Given the description of an element on the screen output the (x, y) to click on. 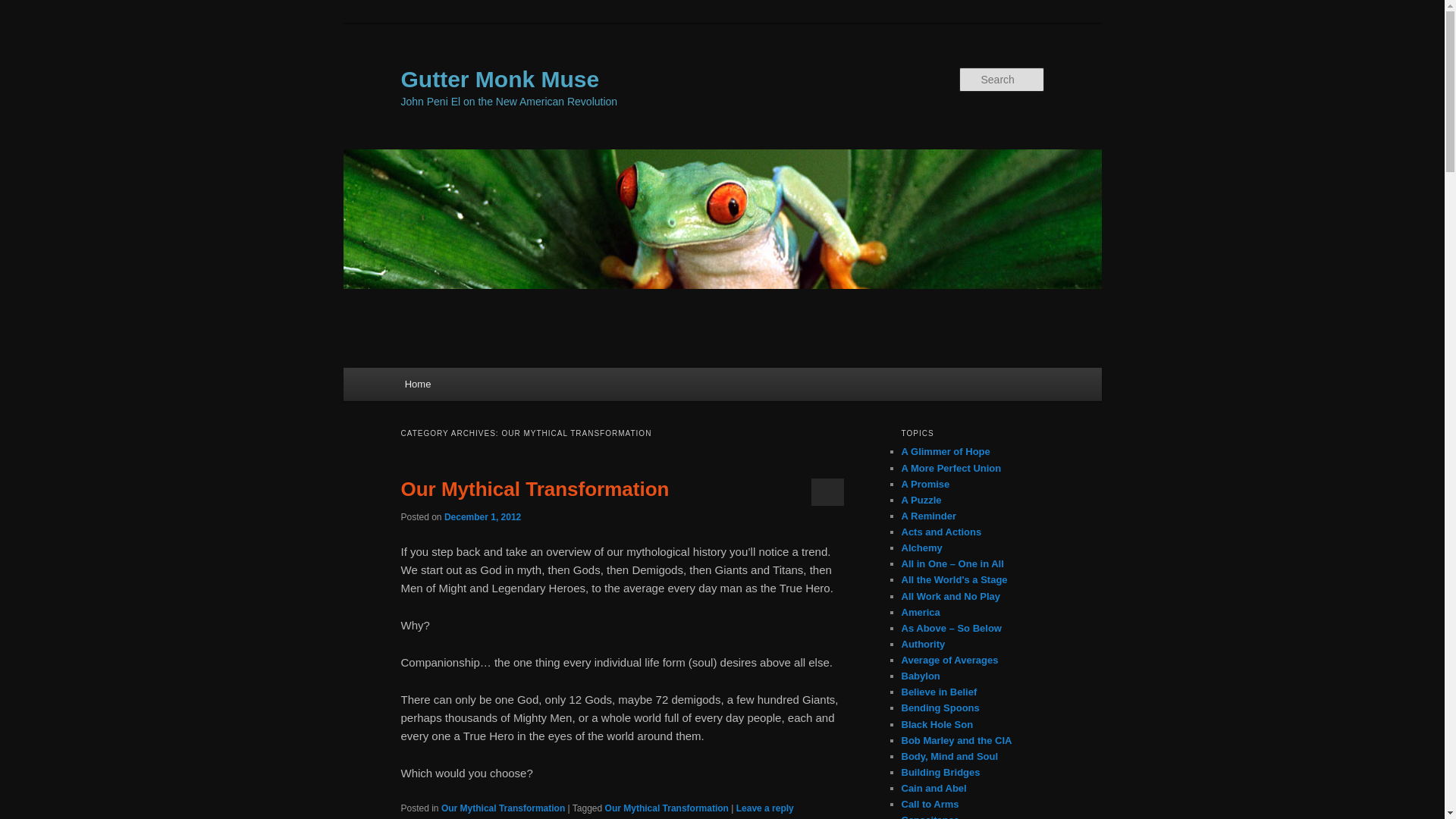
9:41 am (482, 516)
Skip to secondary content (479, 386)
A More Perfect Union (951, 468)
Authority (922, 644)
Alchemy (921, 547)
Capacitance (930, 816)
Our Mythical Transformation (667, 808)
A Glimmer of Hope (945, 451)
Average of Averages (949, 659)
Skip to secondary content (479, 386)
